Given the description of an element on the screen output the (x, y) to click on. 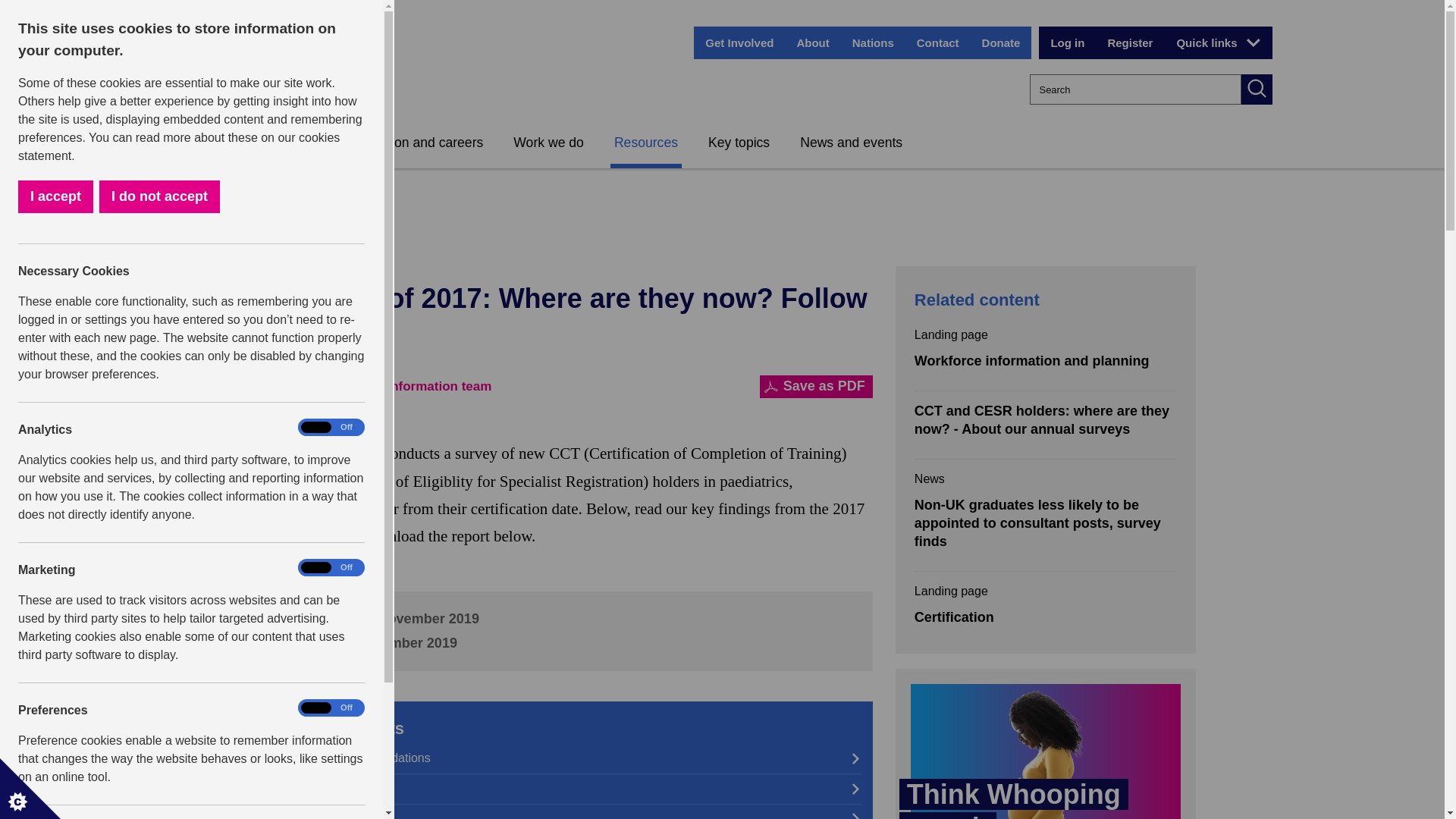
Contact (938, 42)
Search (1255, 89)
RCPCH Home (275, 69)
Key figures (559, 811)
Donate (1001, 42)
Get Involved (739, 42)
I do not accept (81, 196)
Quick links (1217, 42)
Donate to Child Health Futures at RCPCH (1001, 42)
Summary (559, 788)
Nations (873, 42)
Register (1129, 42)
